Given the description of an element on the screen output the (x, y) to click on. 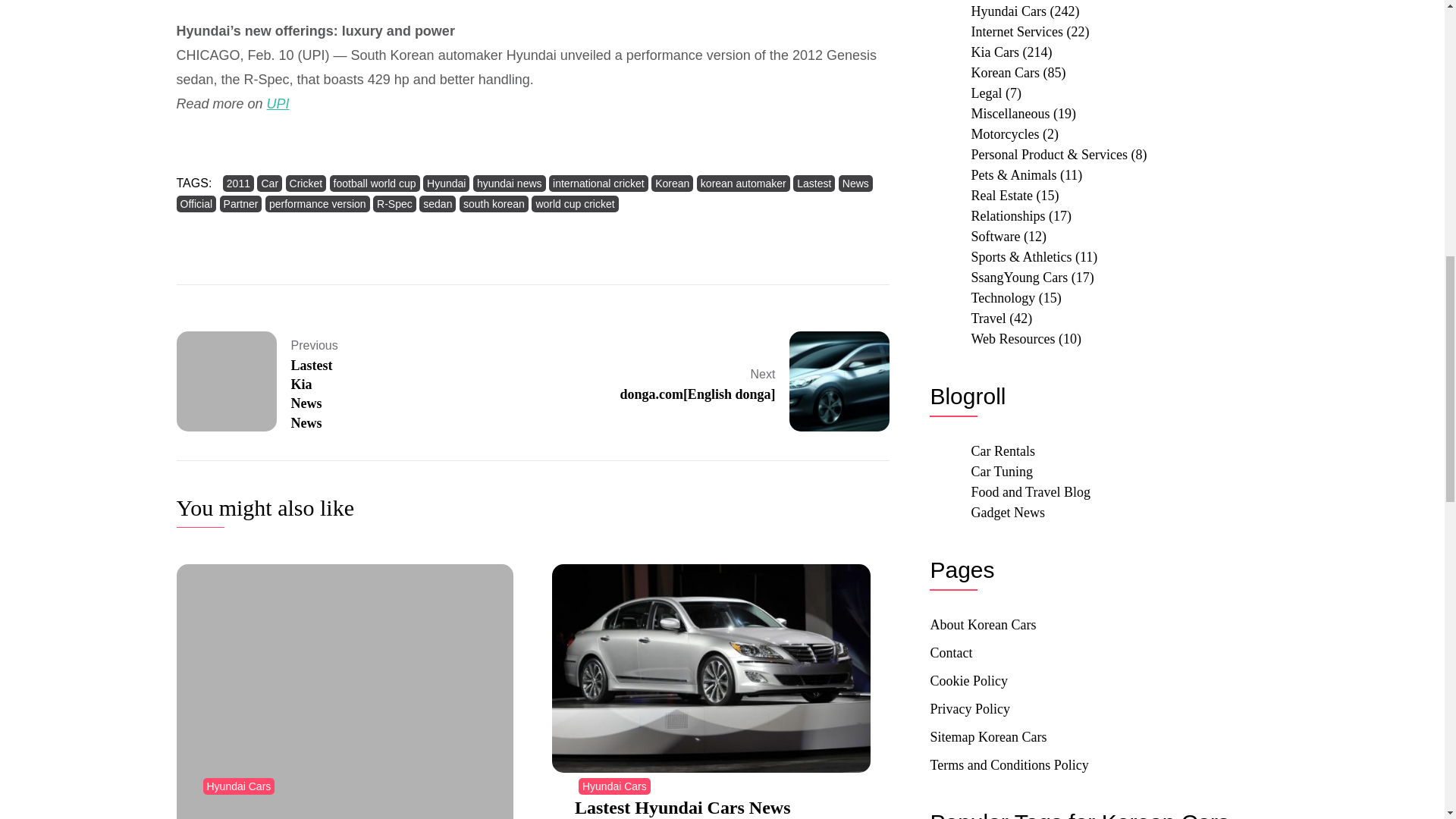
Car Tuning and Modified Car News (1001, 471)
Car Rentals (1002, 450)
international cricket (597, 183)
UPI (277, 103)
Official (195, 203)
Gadget News (1007, 512)
Hyundai (445, 183)
News (855, 183)
Partner (240, 203)
Korean (671, 183)
